Given the description of an element on the screen output the (x, y) to click on. 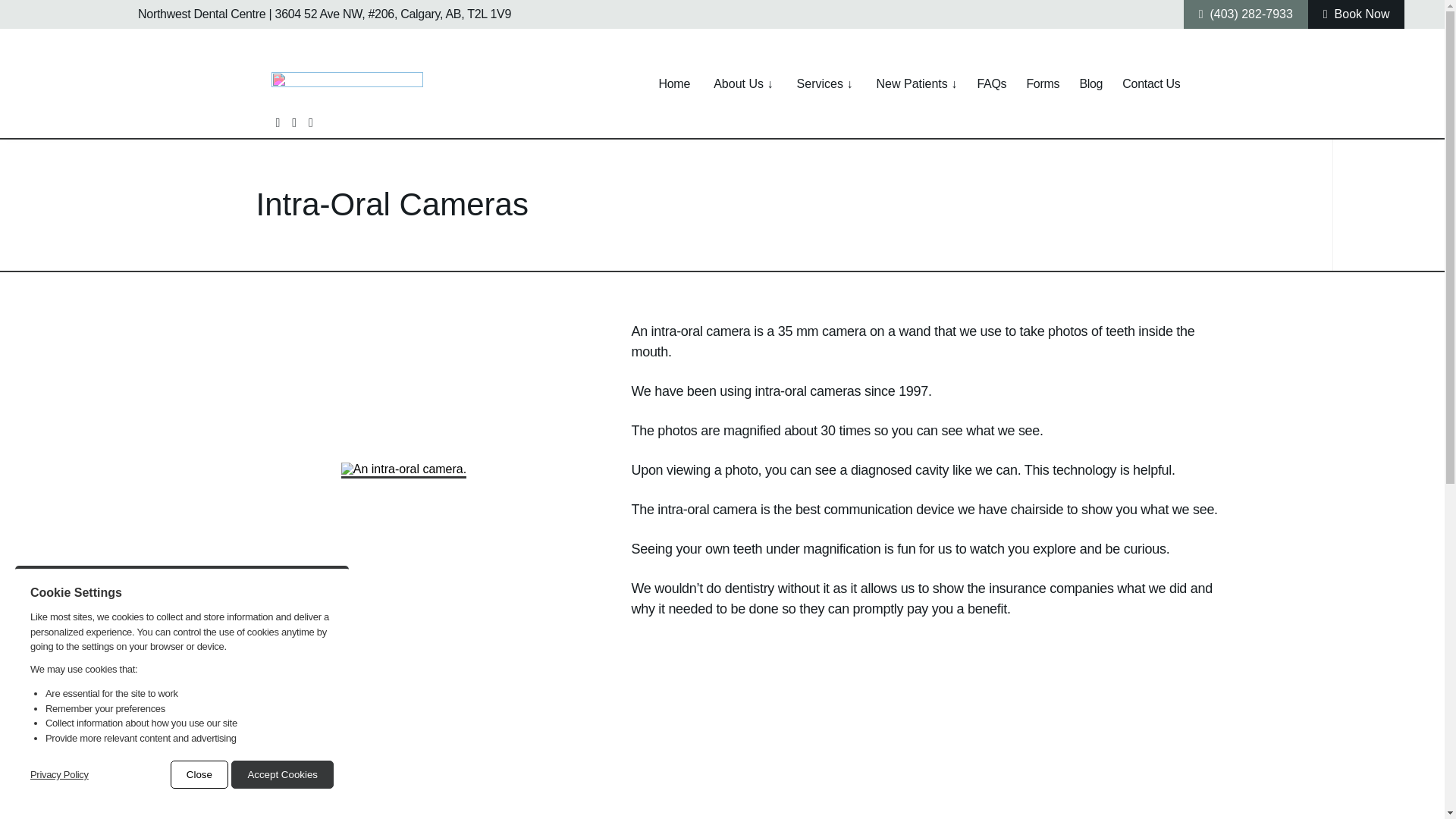
Privacy Policy (59, 774)
 Book Now (1356, 14)
Close (199, 774)
Privacy Policy (59, 774)
Home (674, 83)
Services (822, 83)
About Us (740, 83)
Accept Cookies (282, 774)
